Given the description of an element on the screen output the (x, y) to click on. 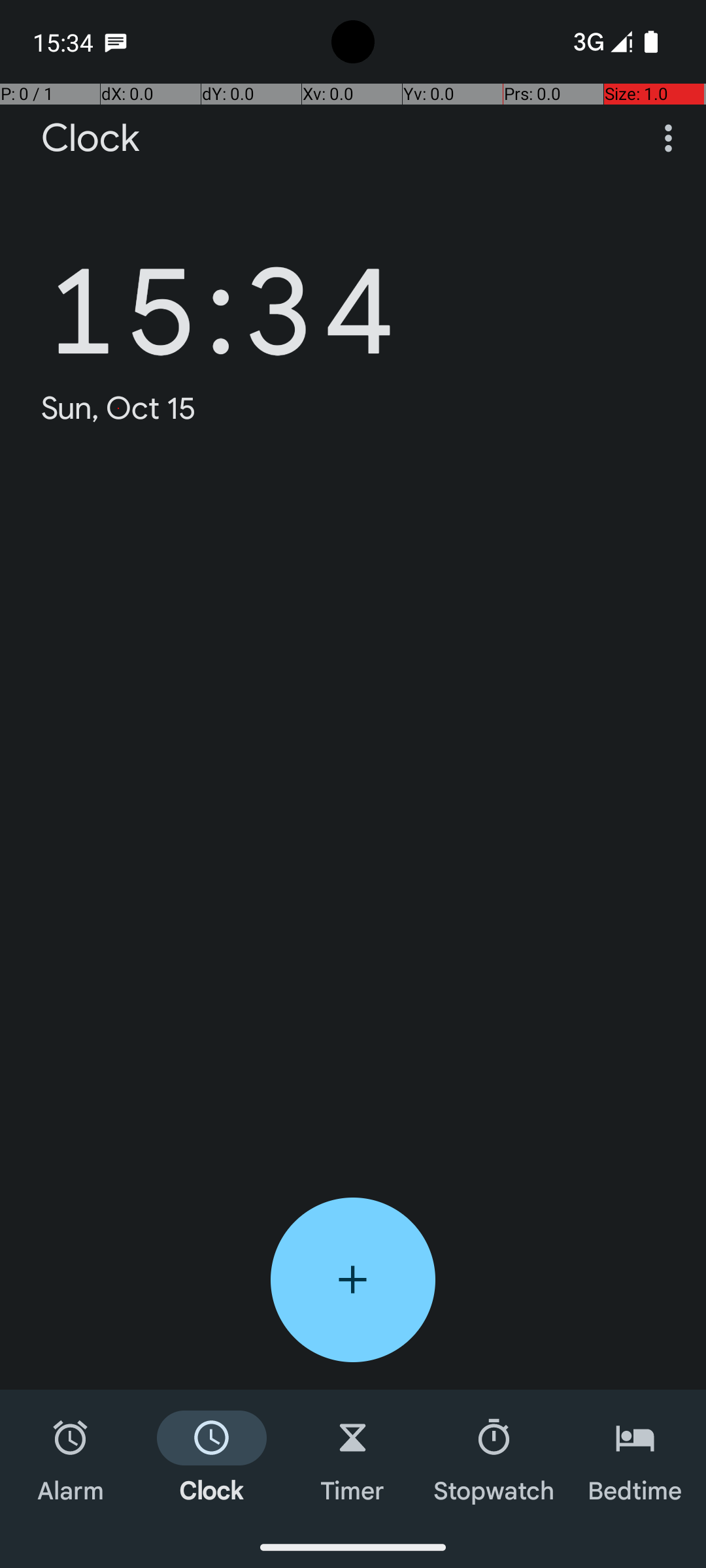
Add city Element type: android.widget.Button (352, 1279)
